Given the description of an element on the screen output the (x, y) to click on. 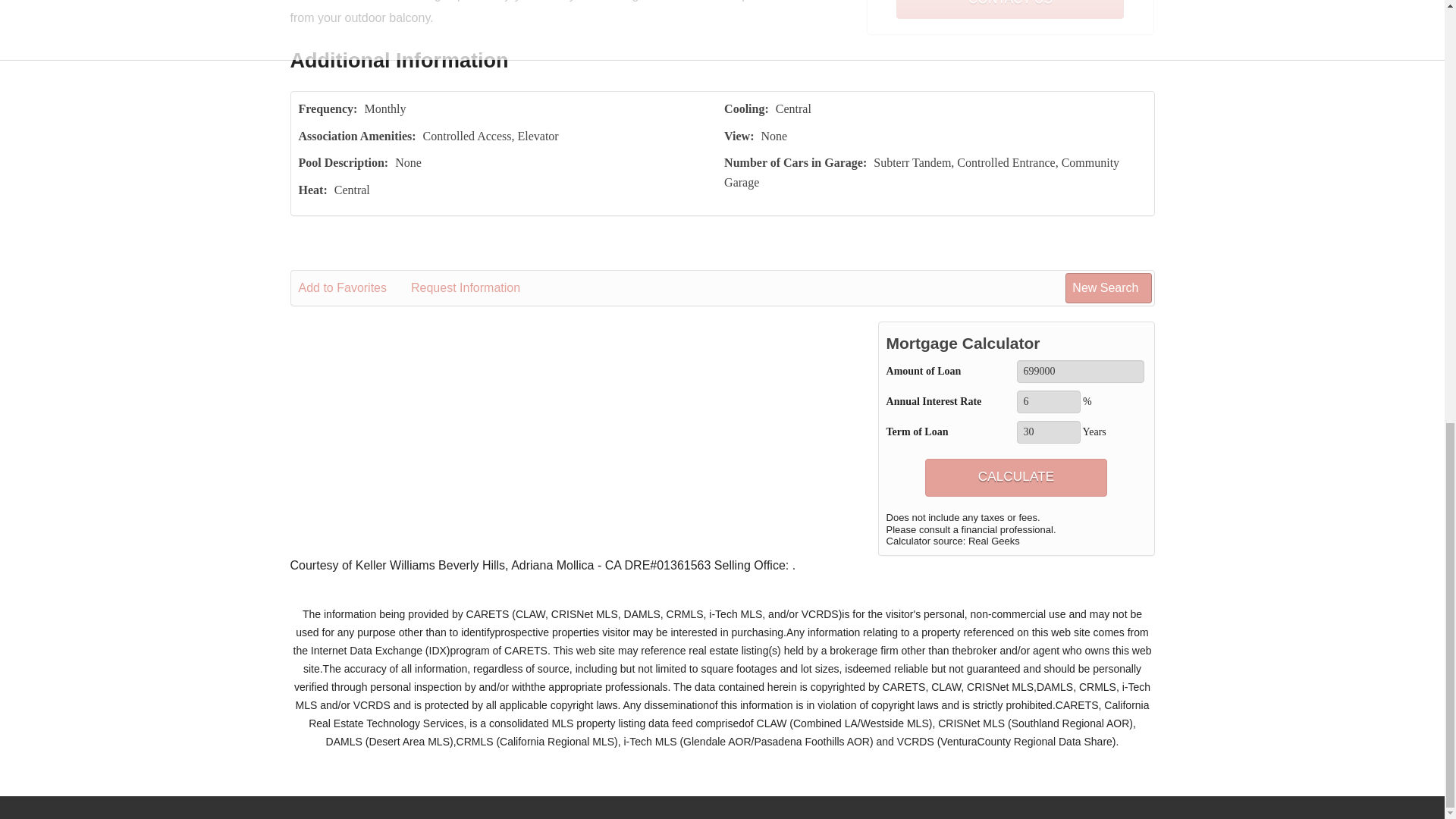
699000 (1080, 371)
6 (1048, 401)
CONTACT US (1010, 9)
30 (1048, 431)
